Given the description of an element on the screen output the (x, y) to click on. 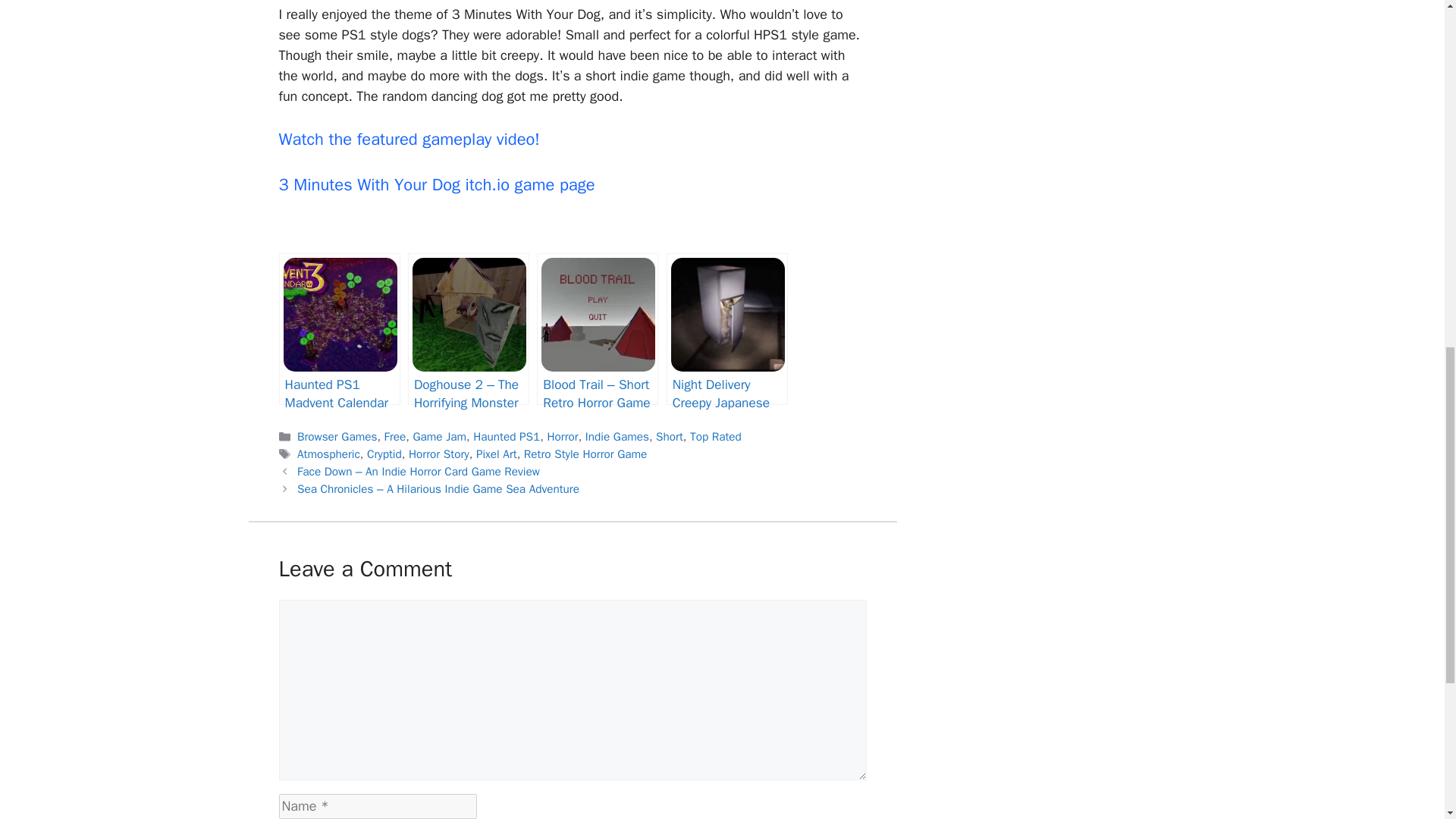
Horror Story (438, 453)
Short (669, 436)
Indie Games (617, 436)
Game Jam (438, 436)
Haunted PS1 (506, 436)
3 Minutes With Your Dog itch.io game page (437, 184)
3 Minutes With Your Dog YouTube gameplay video (409, 138)
Browser Games (337, 436)
Atmospheric (328, 453)
Horror (562, 436)
